Given the description of an element on the screen output the (x, y) to click on. 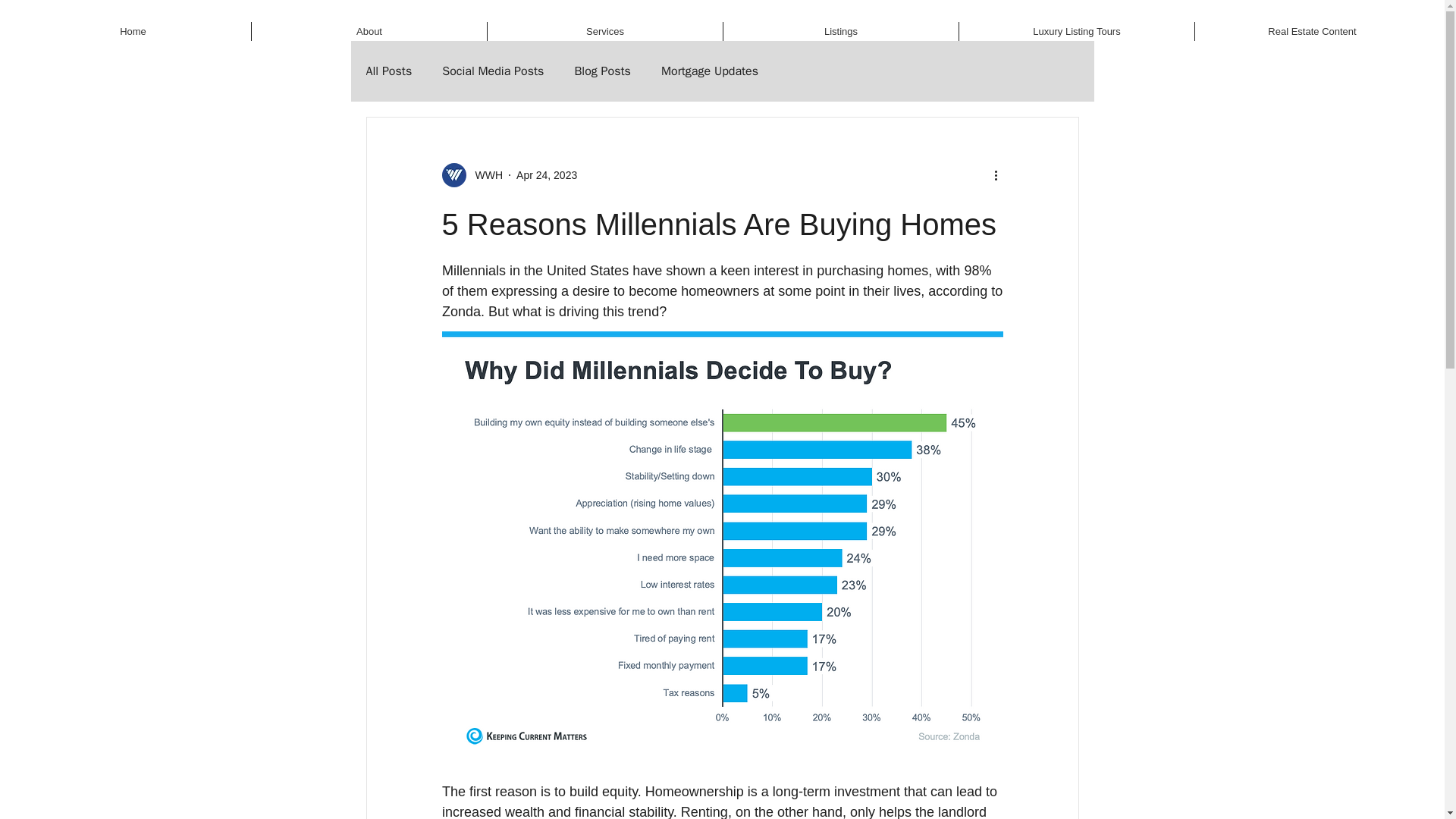
Blog Posts (601, 71)
Social Media Posts (492, 71)
WWH (483, 174)
WWH (471, 174)
About (368, 31)
Mortgage Updates (709, 71)
Listings (840, 31)
Real Estate Content (1312, 31)
Home (132, 31)
All Posts (388, 71)
